Given the description of an element on the screen output the (x, y) to click on. 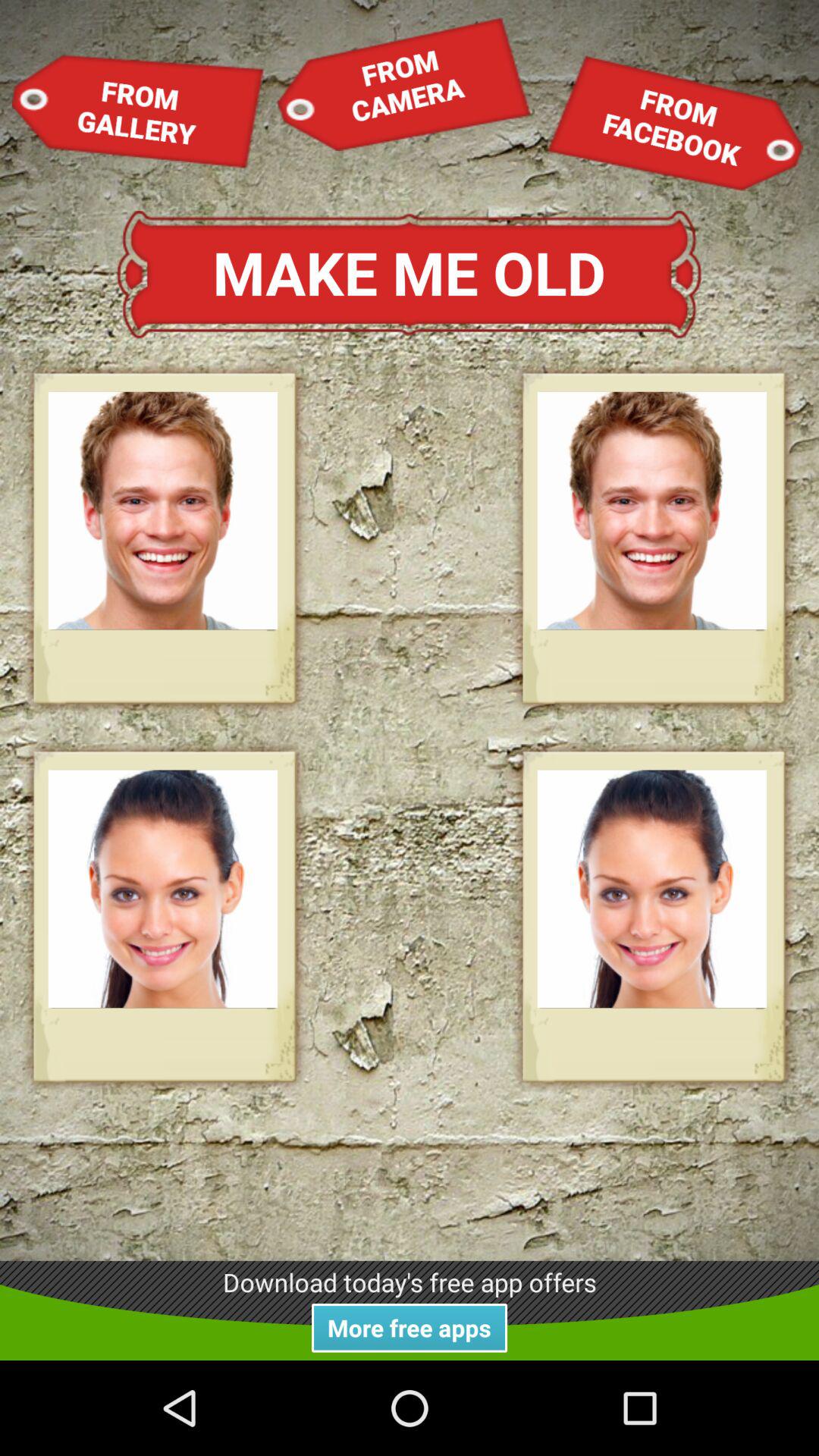
launch the item at the top right corner (675, 123)
